Given the description of an element on the screen output the (x, y) to click on. 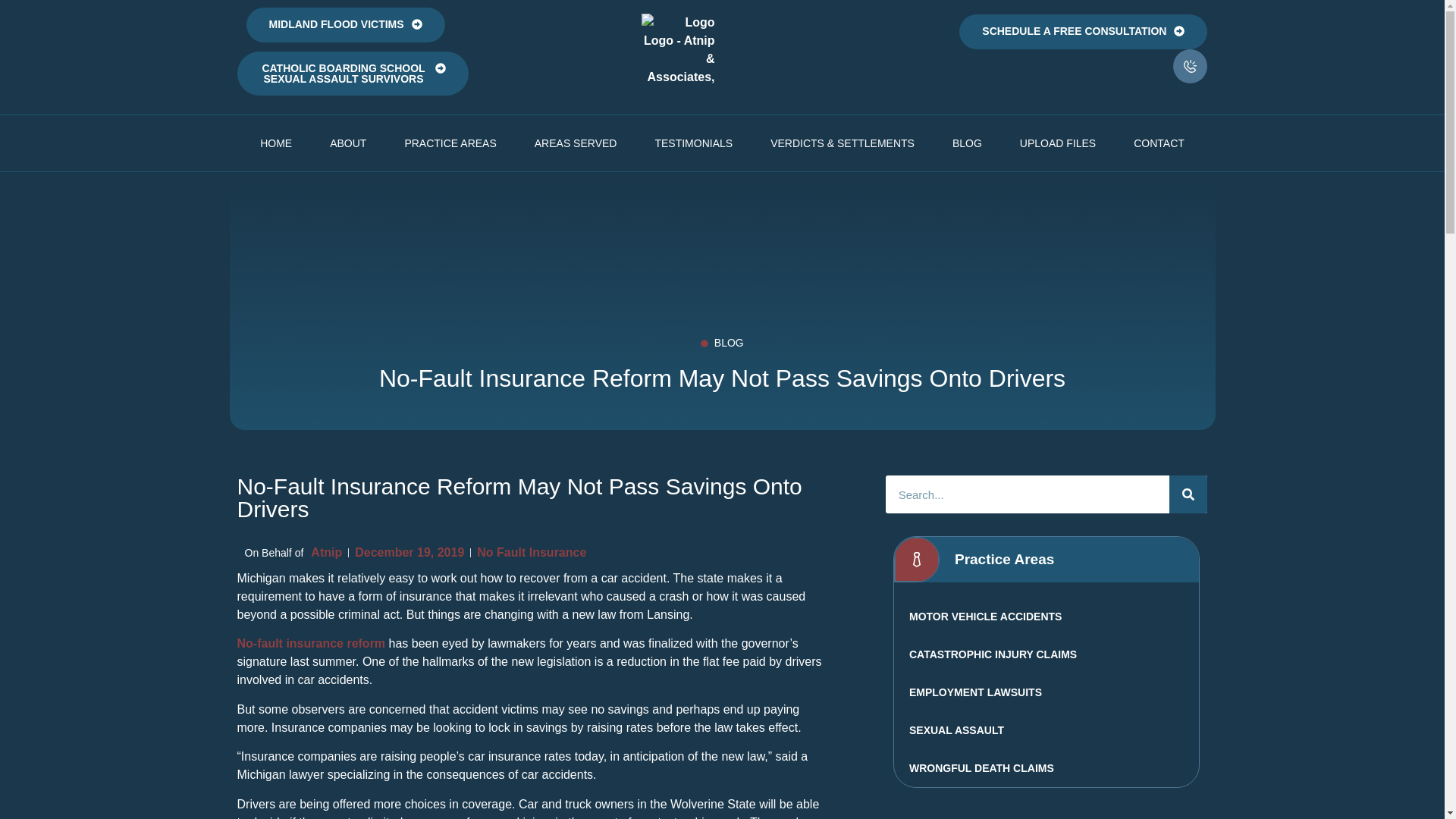
HOME (276, 143)
ABOUT (348, 143)
MIDLAND FLOOD VICTIMS (345, 24)
CATHOLIC BOARDING SCHOOL SEXUAL ASSAULT SURVIVORS (351, 73)
PRACTICE AREAS (450, 143)
SCHEDULE A FREE CONSULTATION (1083, 31)
